Given the description of an element on the screen output the (x, y) to click on. 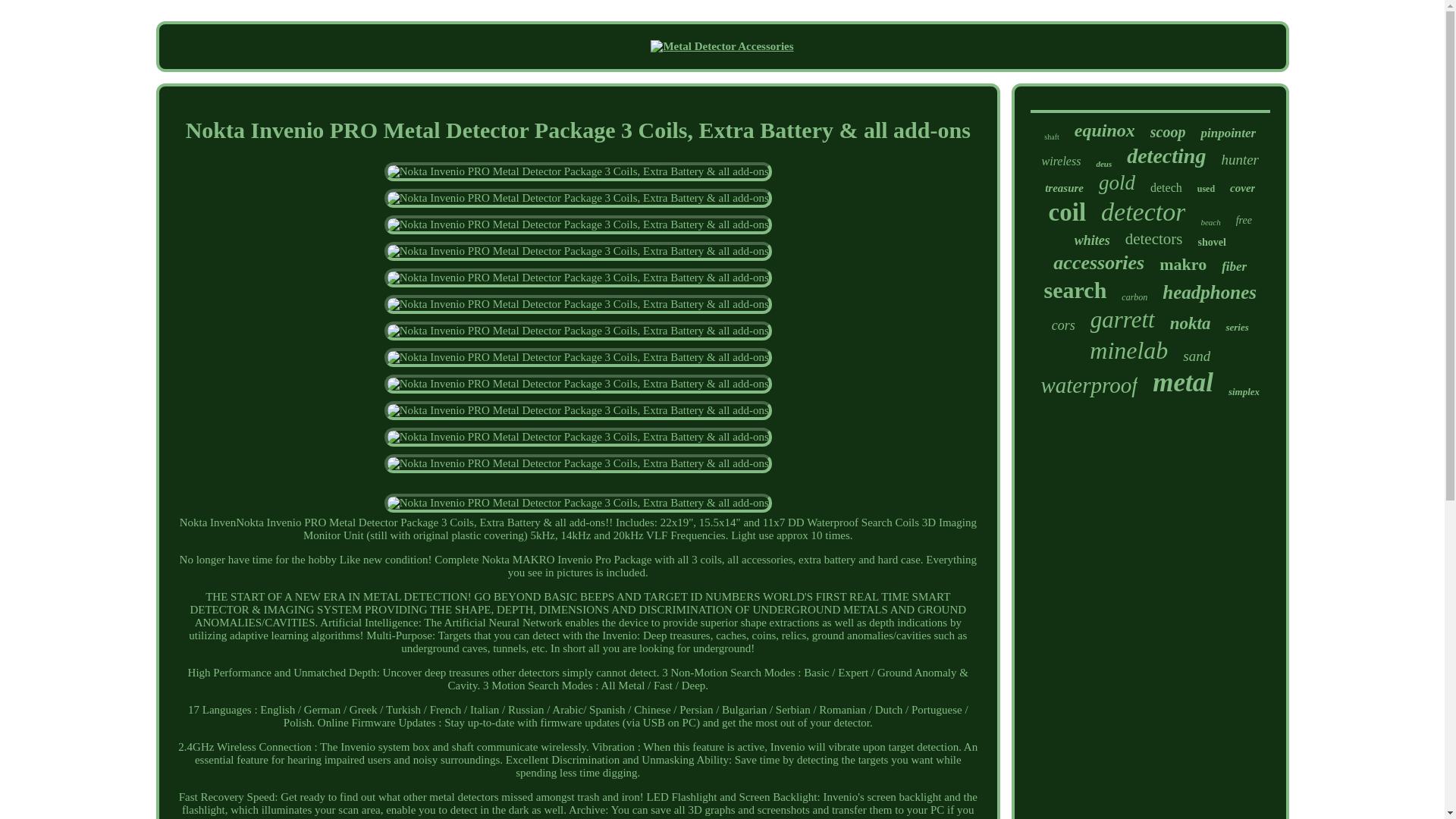
detectors (1153, 239)
search (1074, 290)
used (1205, 188)
fiber (1233, 266)
wireless (1061, 161)
detech (1166, 187)
cors (1063, 325)
equinox (1104, 130)
deus (1104, 163)
shaft (1050, 136)
